Given the description of an element on the screen output the (x, y) to click on. 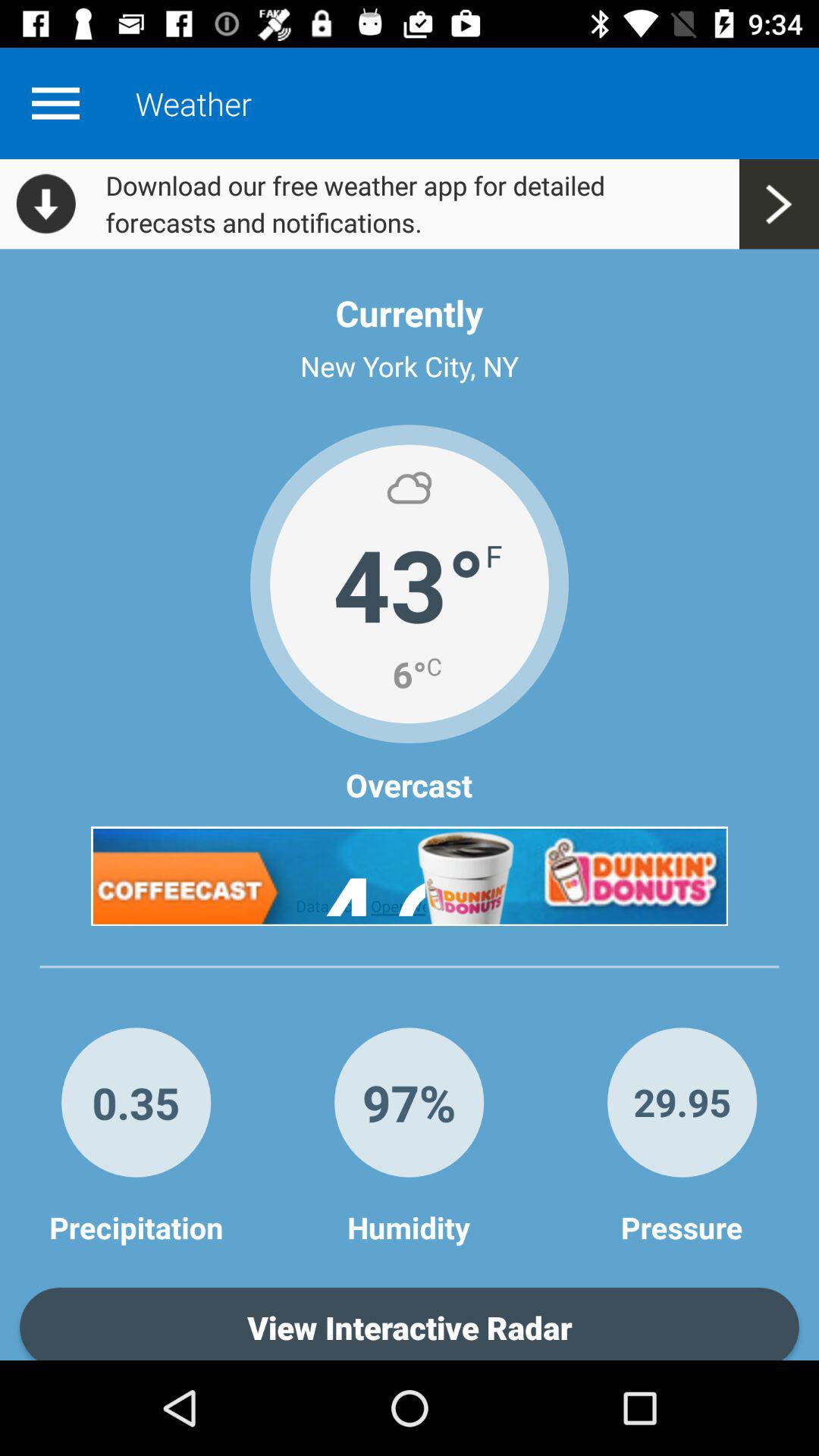
display options (55, 103)
